Given the description of an element on the screen output the (x, y) to click on. 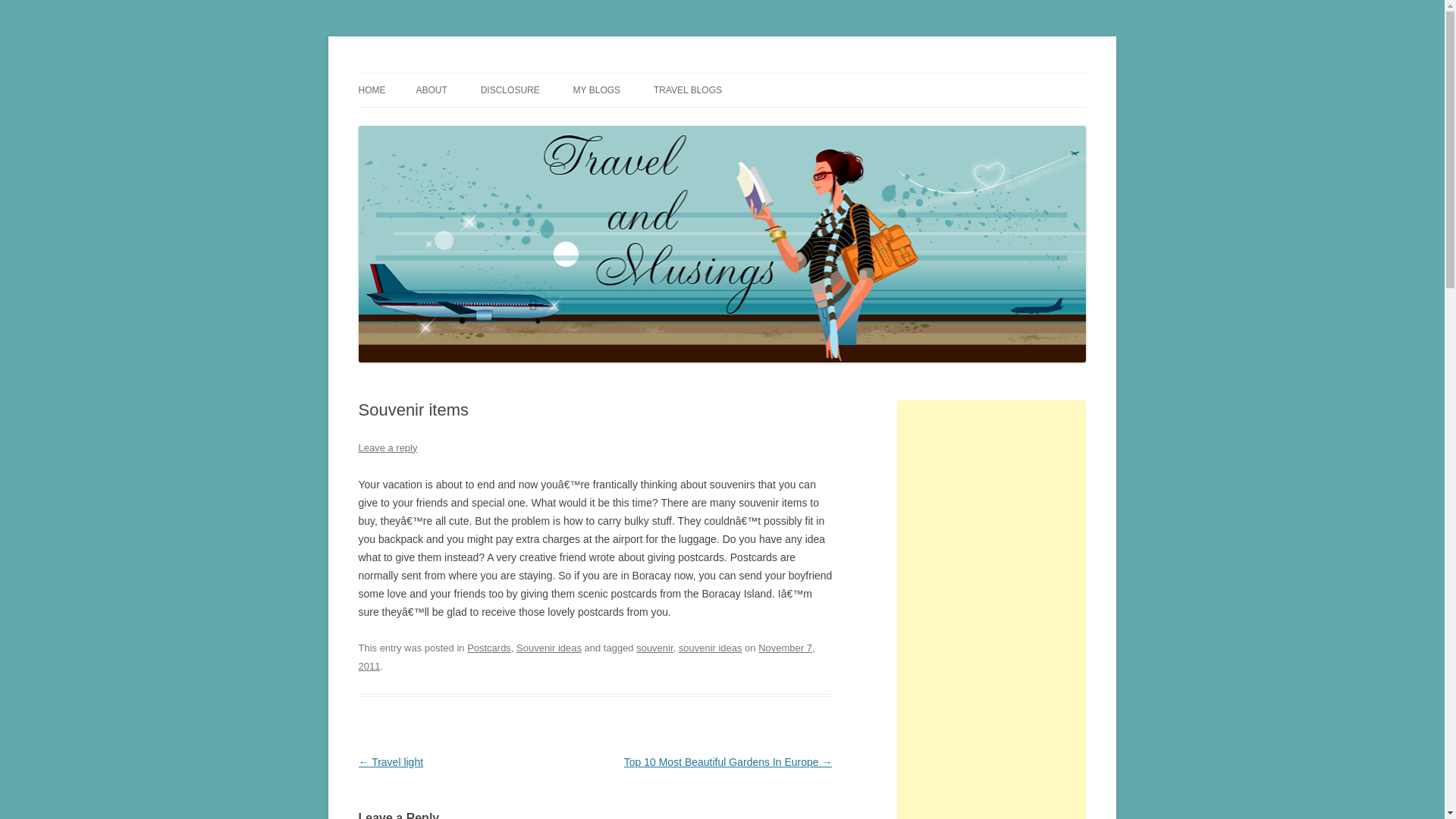
Travel and Musings (449, 72)
Souvenir ideas (548, 647)
souvenir (654, 647)
5:40 pm (585, 656)
MY BLOGS (596, 90)
Postcards (489, 647)
TRAVEL BLOGS (687, 90)
Leave a reply (387, 447)
ABOUT (430, 90)
